Given the description of an element on the screen output the (x, y) to click on. 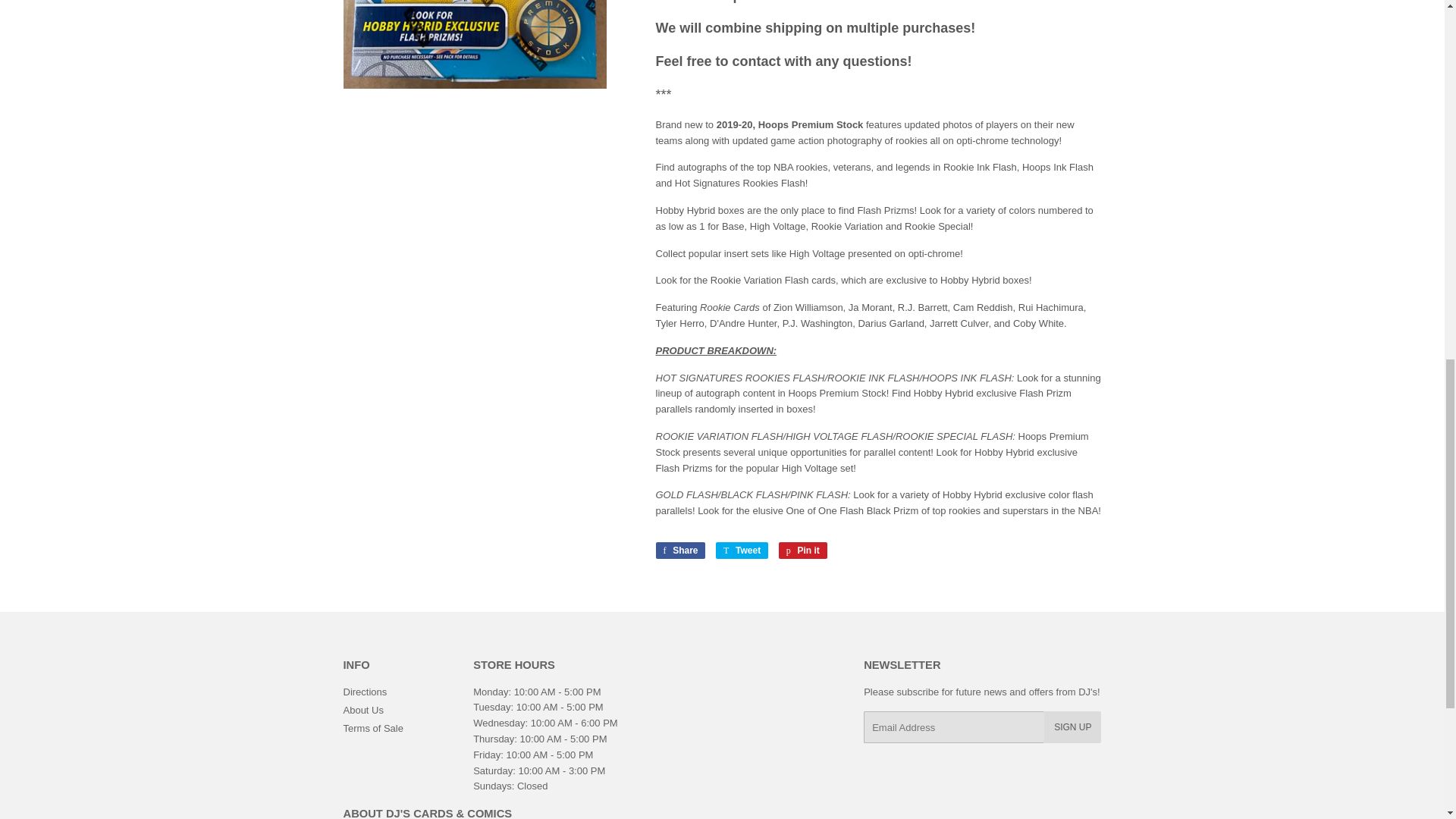
Tweet on Twitter (742, 550)
Directions (742, 550)
Pin on Pinterest (802, 550)
Share on Facebook (364, 691)
About Us (802, 550)
